Given the description of an element on the screen output the (x, y) to click on. 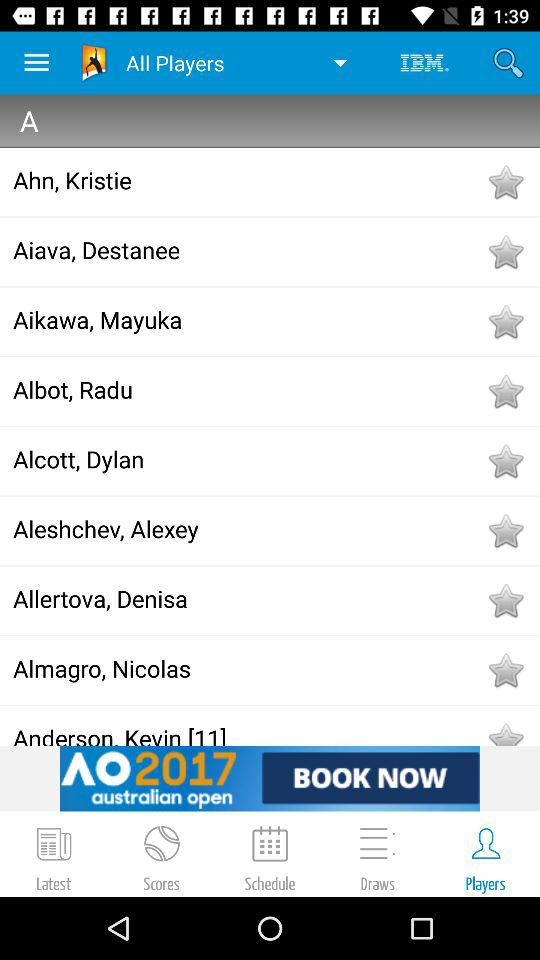
launch almagro, nicolas icon (248, 668)
